Given the description of an element on the screen output the (x, y) to click on. 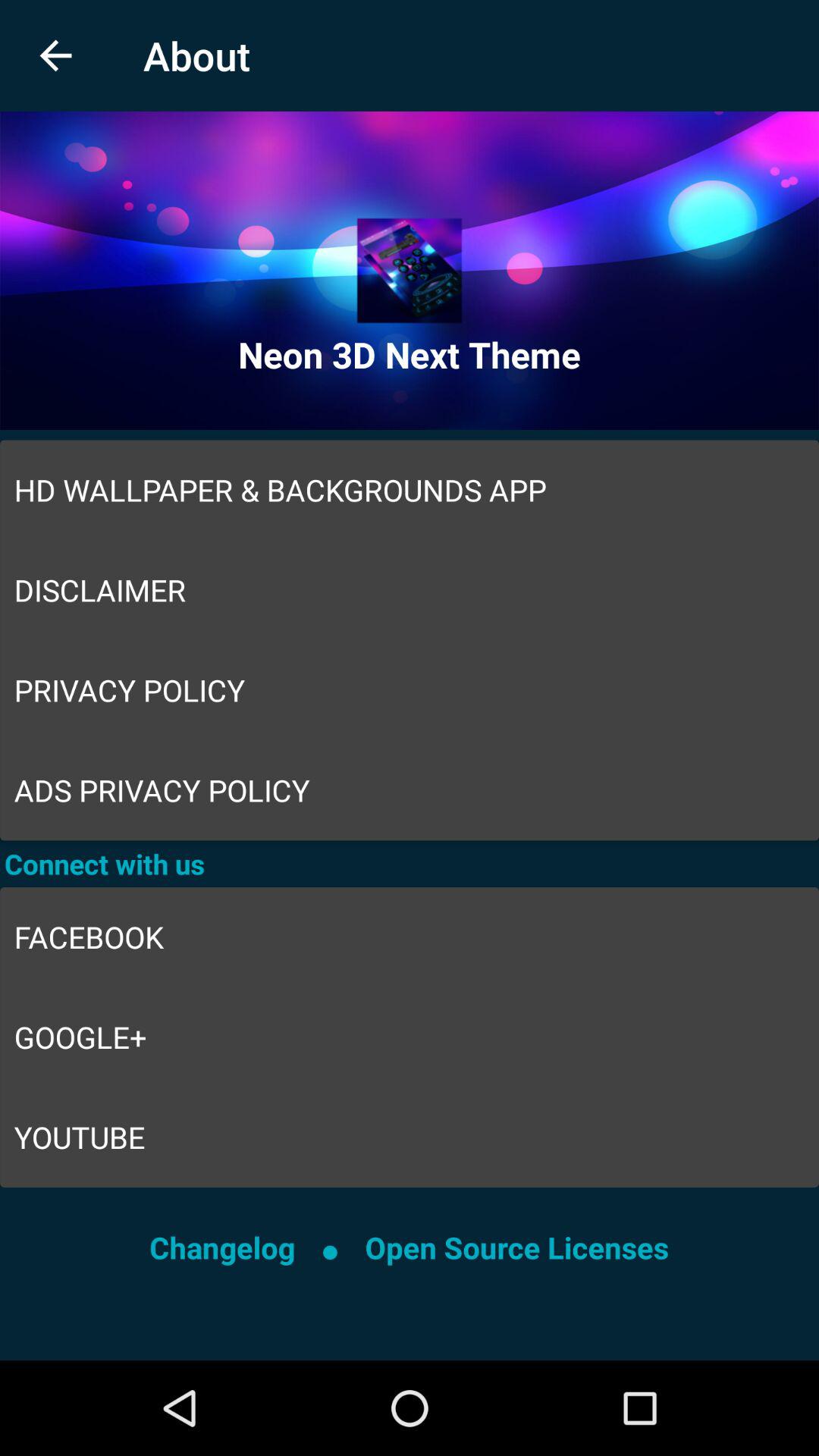
choose hd wallpaper backgrounds item (409, 490)
